Given the description of an element on the screen output the (x, y) to click on. 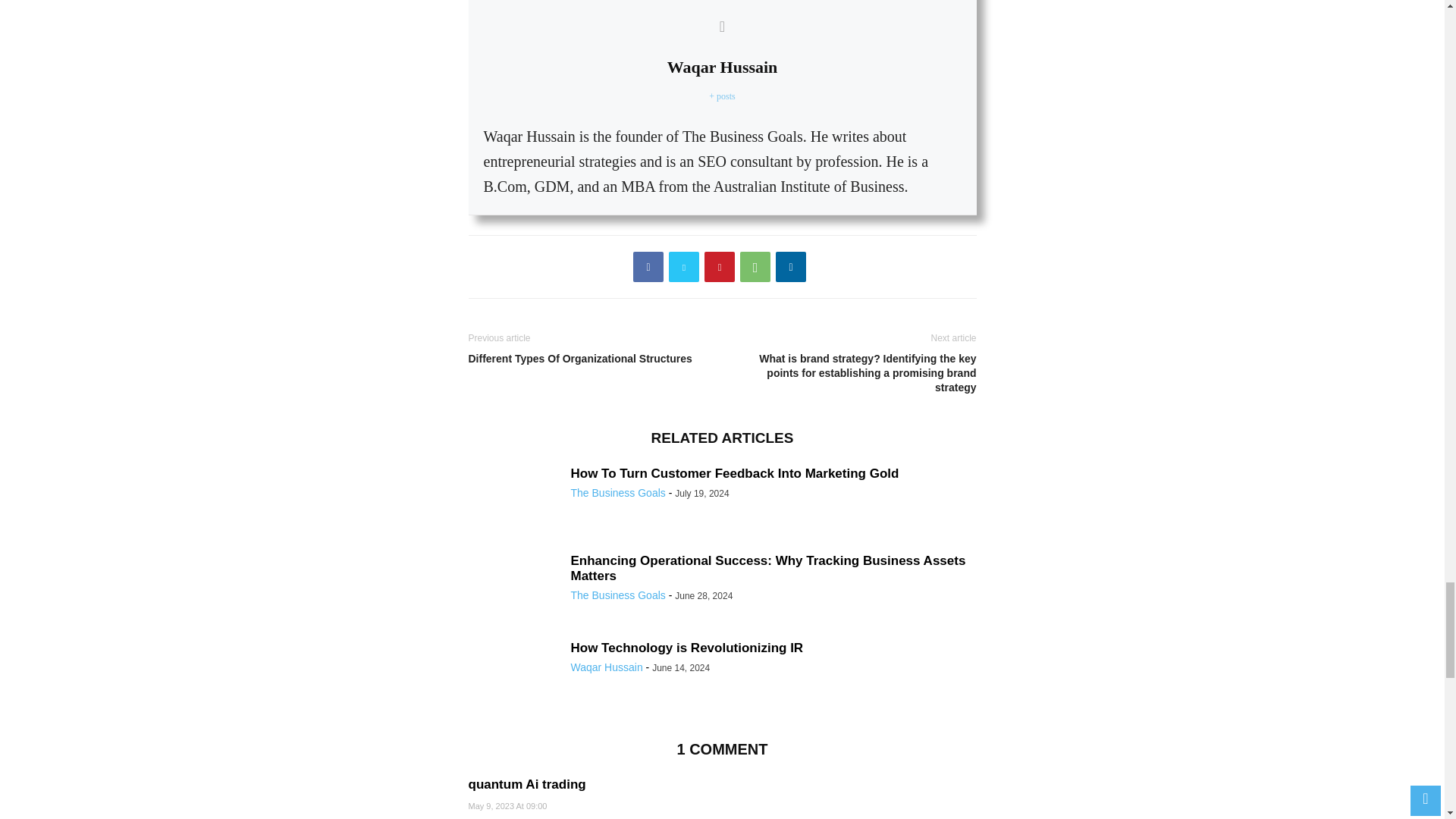
WhatsApp (754, 266)
Waqar Hussain (721, 66)
Linkedin (791, 266)
Facebook (648, 266)
Twitter (683, 266)
How To Turn Customer Feedback Into Marketing Gold (513, 500)
Different Types Of Organizational Structures (591, 359)
Pinterest (719, 266)
